Given the description of an element on the screen output the (x, y) to click on. 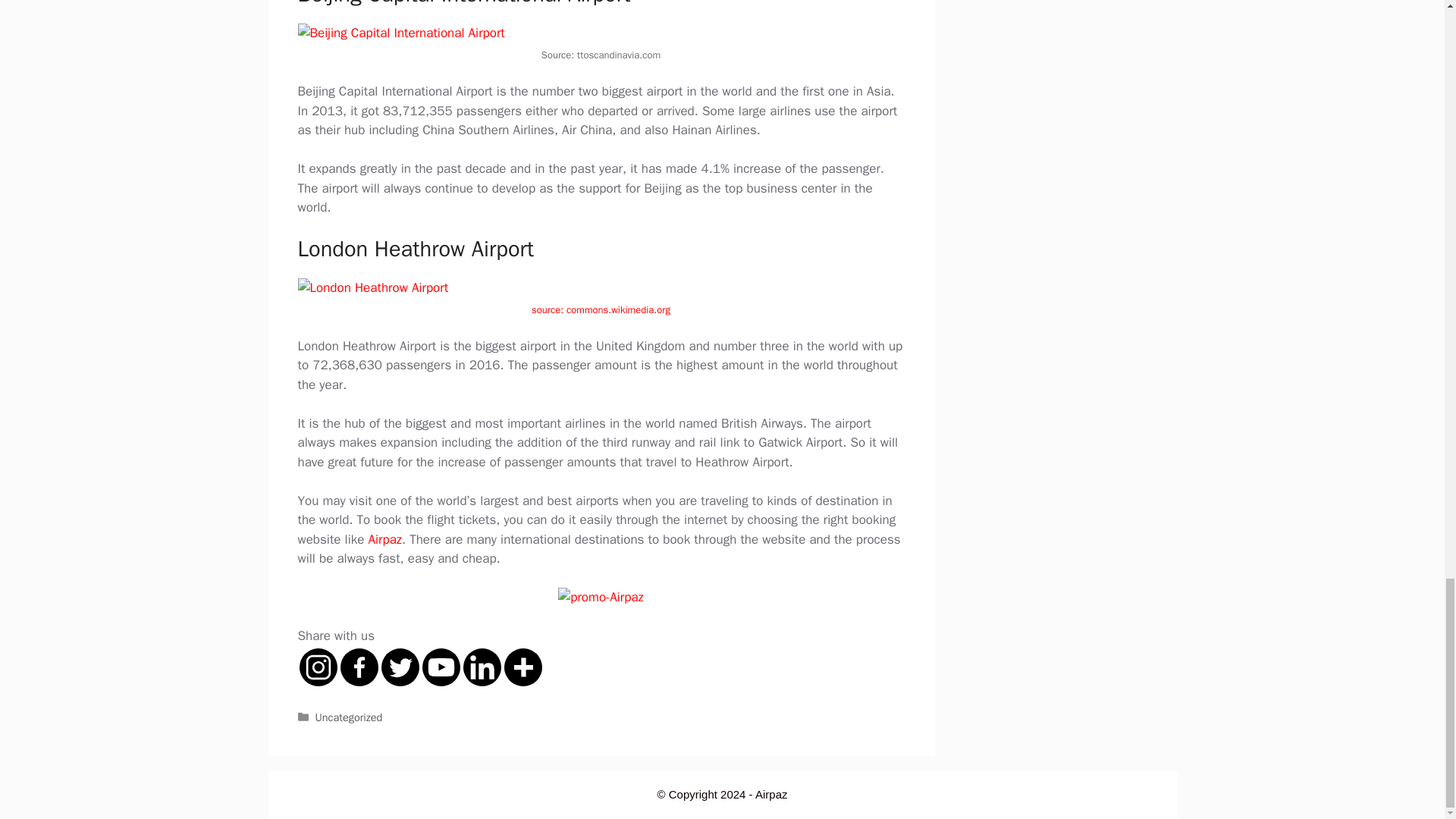
Facebook (358, 667)
More (522, 667)
Three Largest and Best Airports in the World 3 (400, 33)
Twitter (399, 667)
Youtube (441, 667)
Three Largest and Best Airports in the World 5 (600, 597)
Three Largest and Best Airports in the World 4 (372, 288)
Instagram (317, 667)
Linkedin (481, 667)
